Given the description of an element on the screen output the (x, y) to click on. 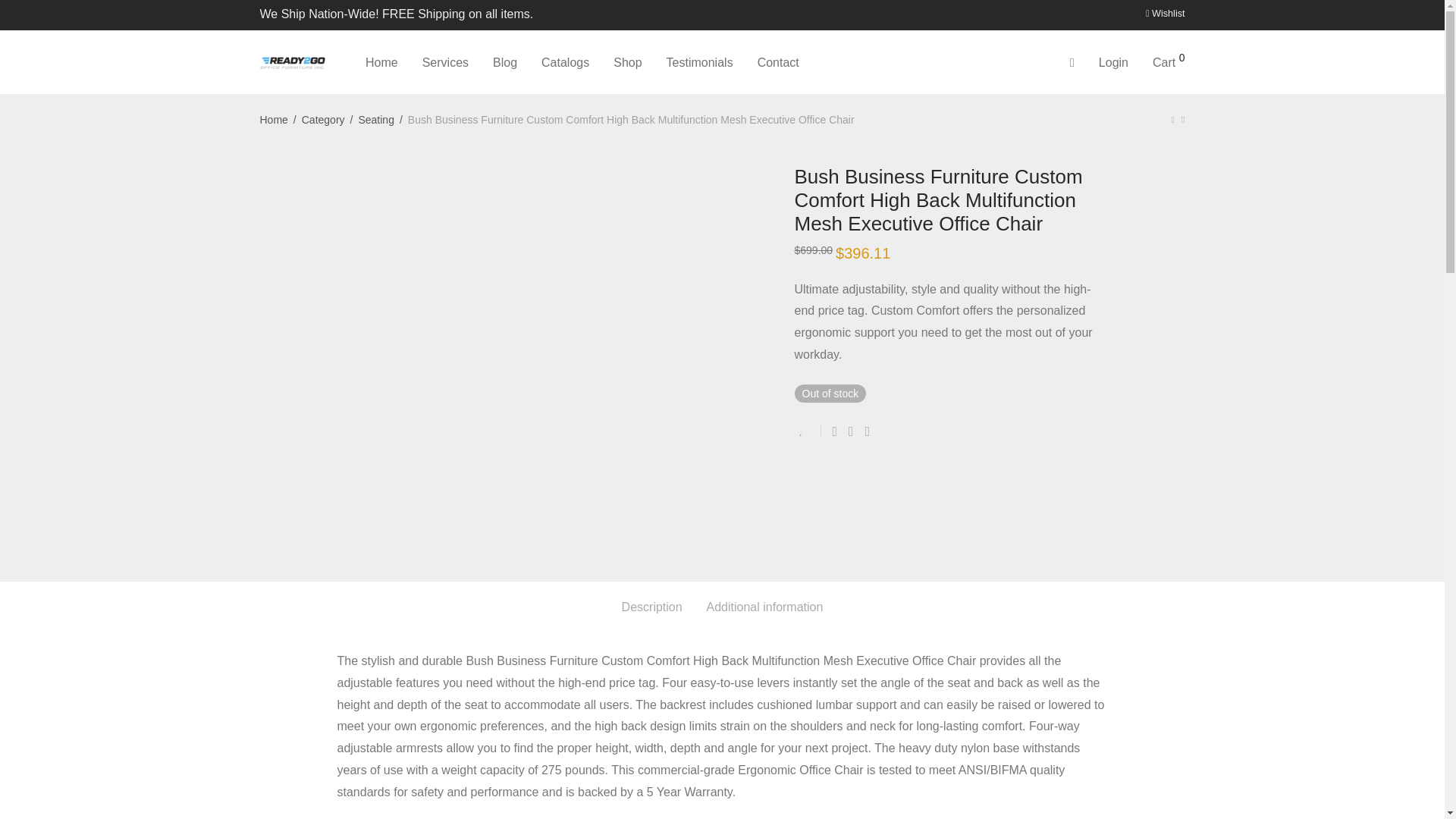
Add to Wishlist (807, 430)
Services (445, 63)
Home (381, 63)
Blog (504, 63)
Wishlist (1161, 13)
Testimonials (699, 63)
Catalogs (565, 63)
Shop (627, 63)
Login (1113, 63)
Contact (777, 63)
